Given the description of an element on the screen output the (x, y) to click on. 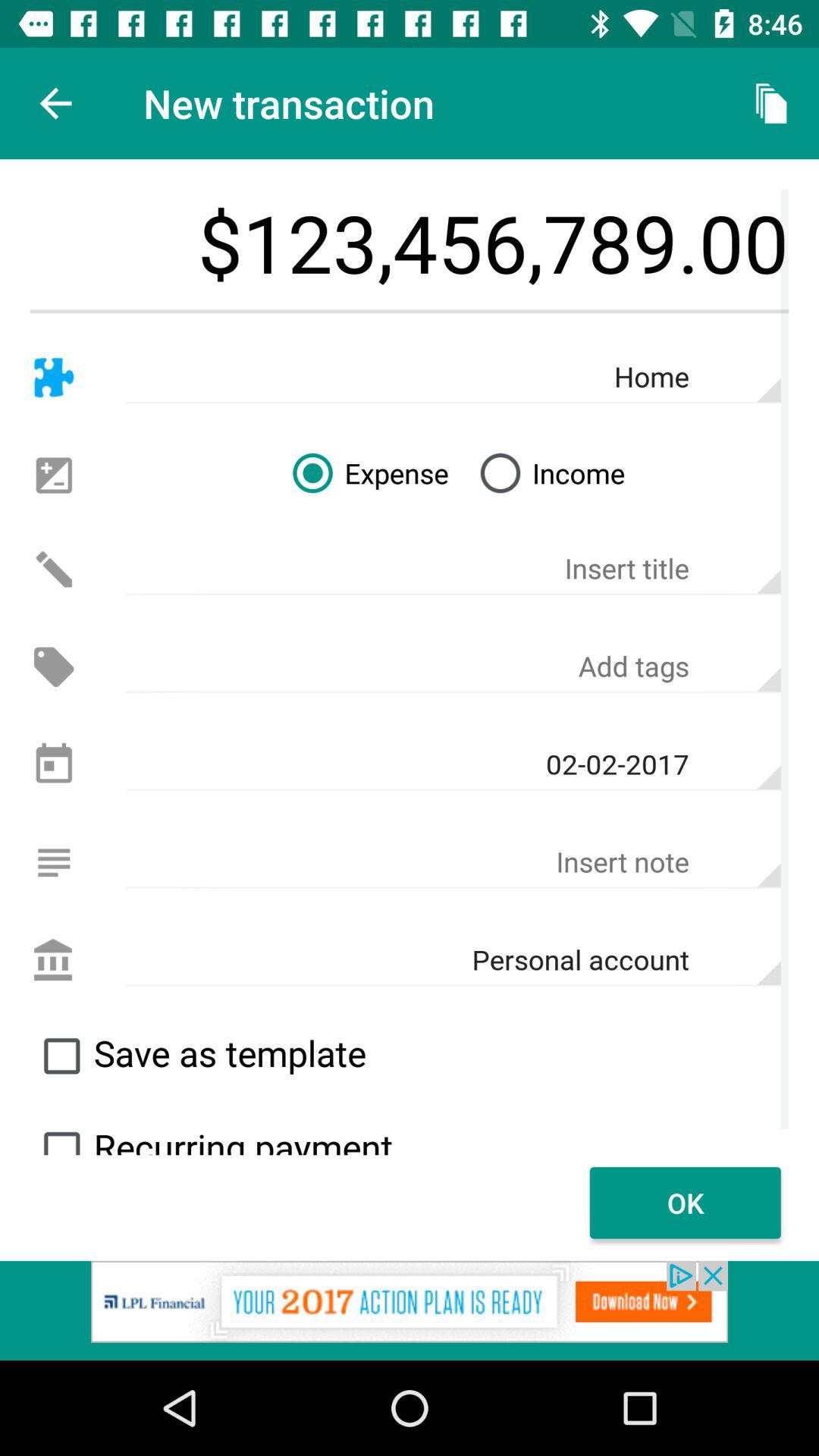
go to advertisement link (409, 1310)
